Given the description of an element on the screen output the (x, y) to click on. 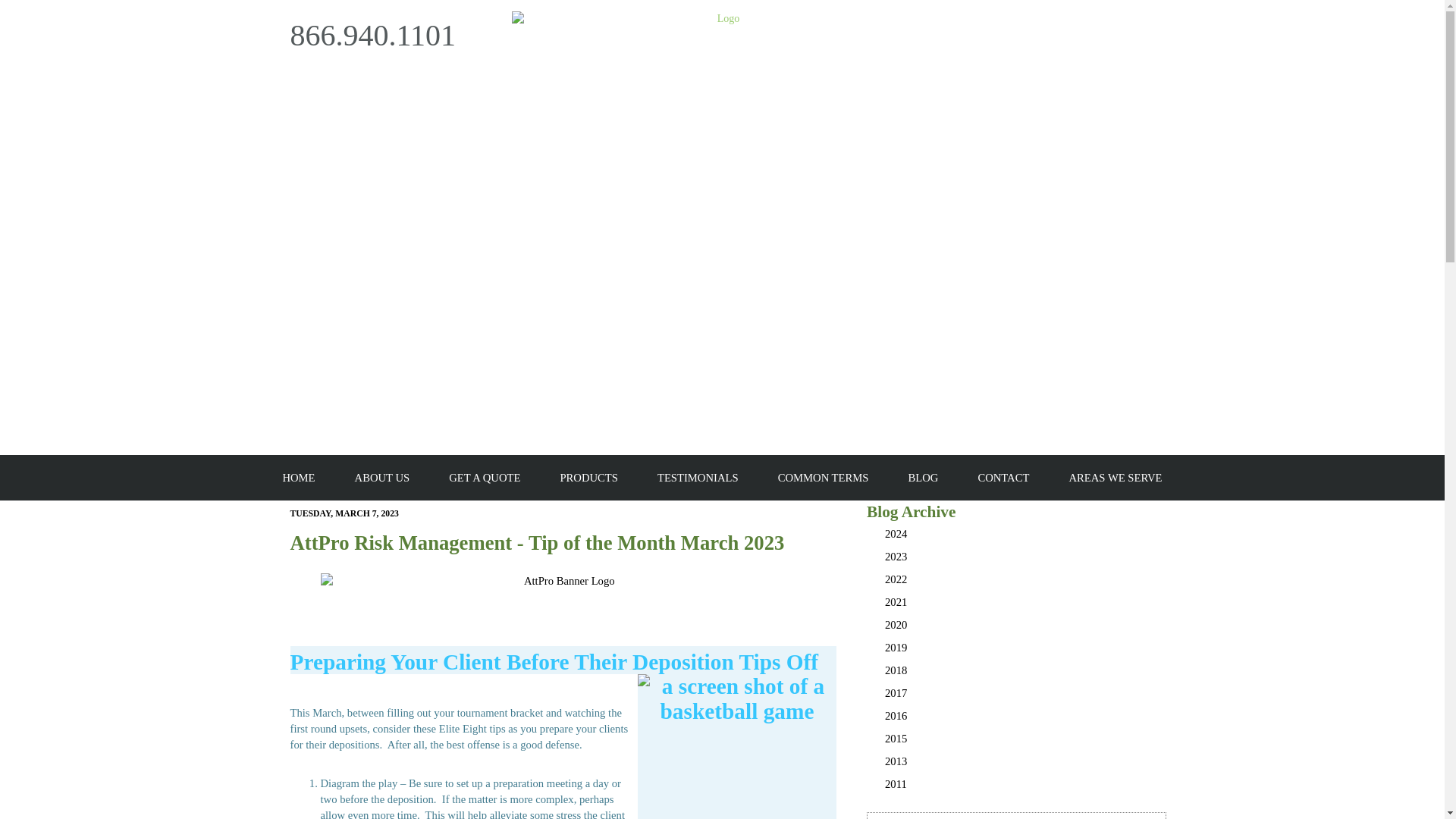
HOME (298, 477)
TESTIMONIALS (698, 477)
866.940.1101 (372, 35)
BLOG (922, 477)
PRODUCTS (588, 477)
AREAS WE SERVE (1114, 477)
CONTACT (1003, 477)
lawyers professional liability insurance (984, 816)
GET A QUOTE (483, 477)
AttPro Risk Management - Tip of the Month March 2023 (536, 542)
ABOUT US (382, 477)
COMMON TERMS (823, 477)
